Given the description of an element on the screen output the (x, y) to click on. 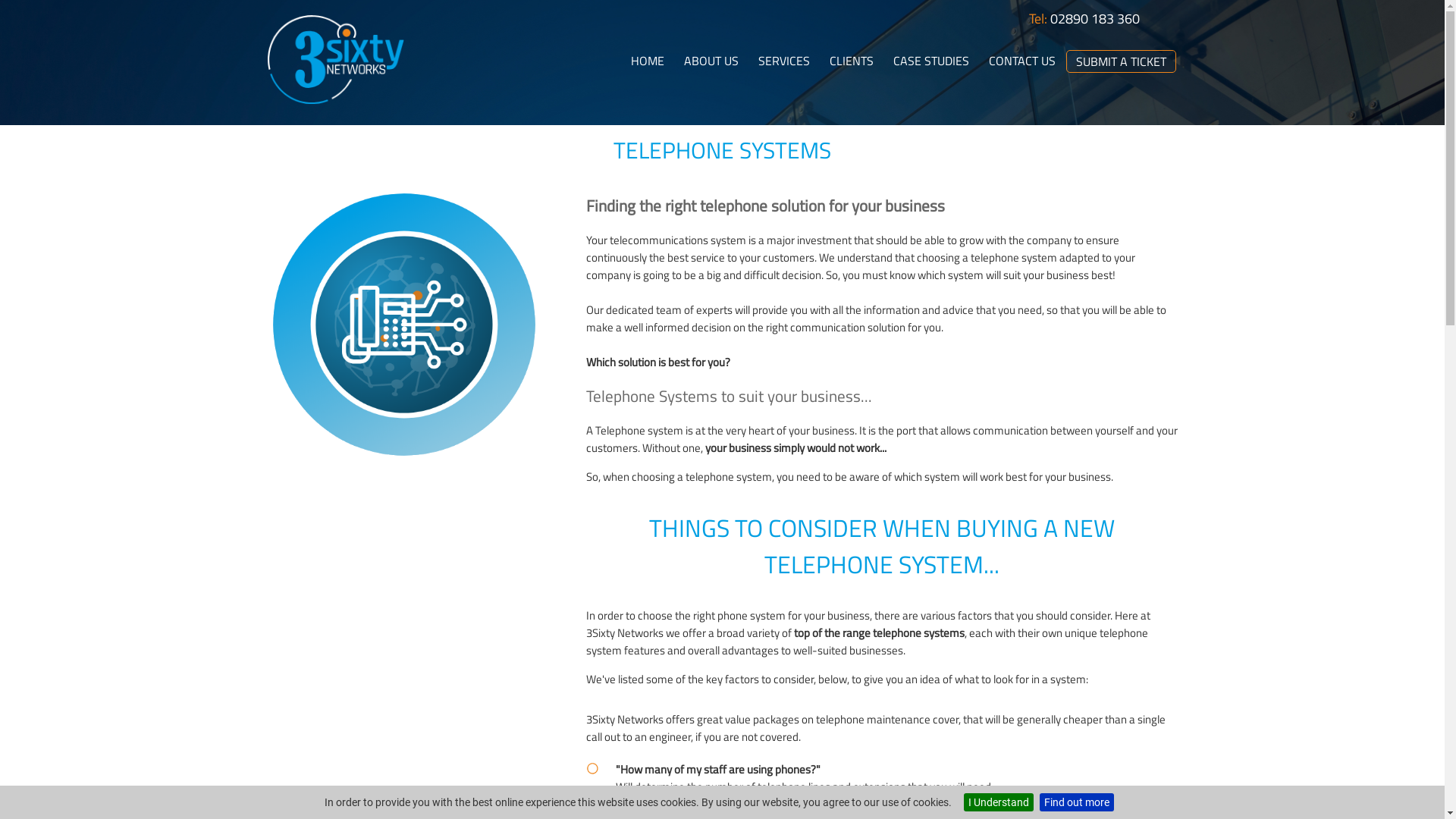
SUBMIT A TICKET Element type: text (1121, 61)
I Understand Element type: text (998, 802)
Find out more Element type: text (1076, 802)
CONTACT US Element type: text (1021, 60)
ABOUT US Element type: text (710, 60)
CLIENTS Element type: text (851, 60)
HOME Element type: text (647, 60)
SERVICES Element type: text (784, 60)
CASE STUDIES Element type: text (931, 60)
